Given the description of an element on the screen output the (x, y) to click on. 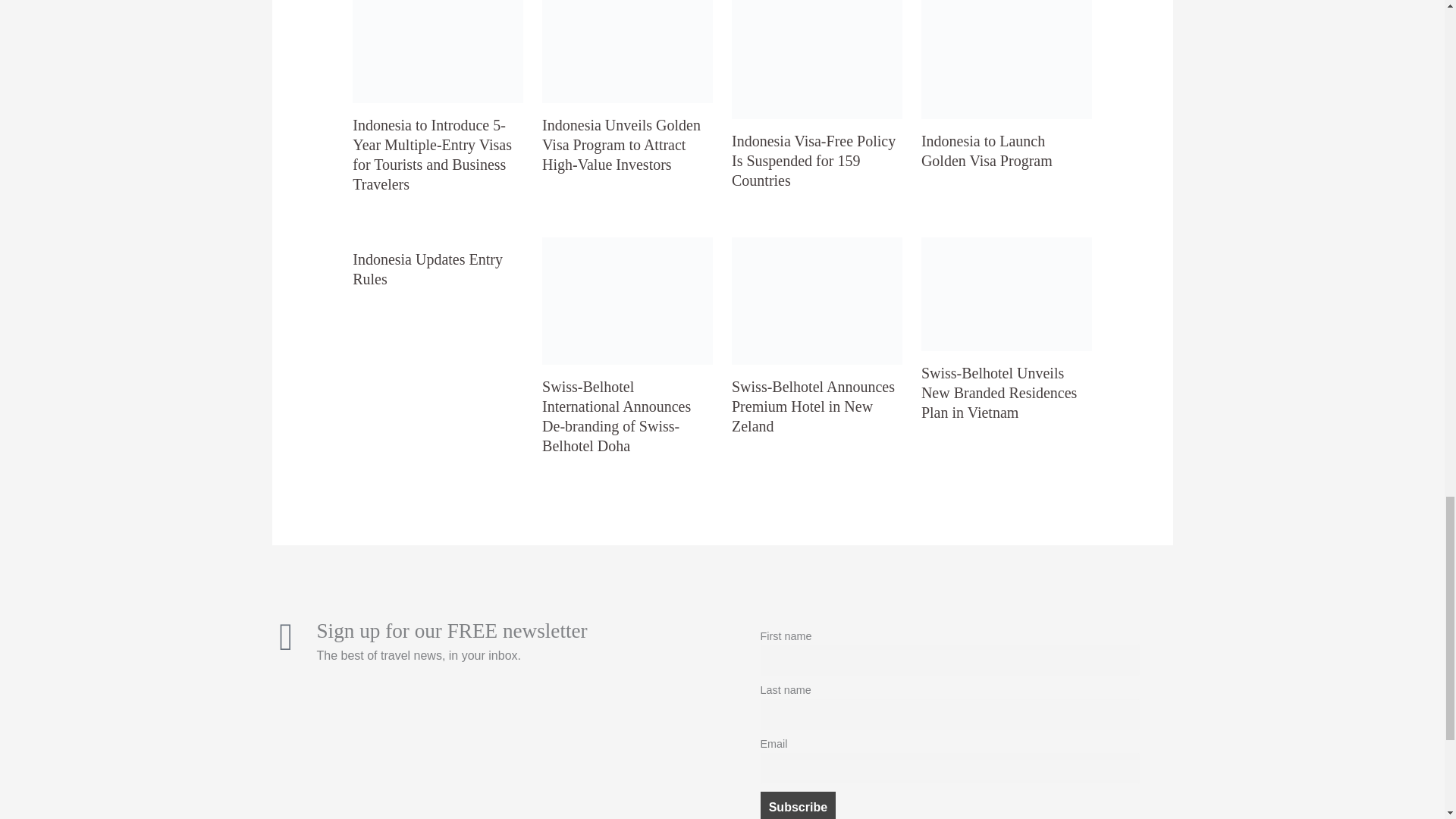
Swiss-Belhotel Announces Premium Hotel in New Zeland 8 (817, 301)
Indonesia to Launch Golden Visa Program 6 (1006, 59)
Subscribe (797, 805)
Indonesia Visa-Free Policy Is Suspended for 159 Countries 5 (817, 59)
